Given the description of an element on the screen output the (x, y) to click on. 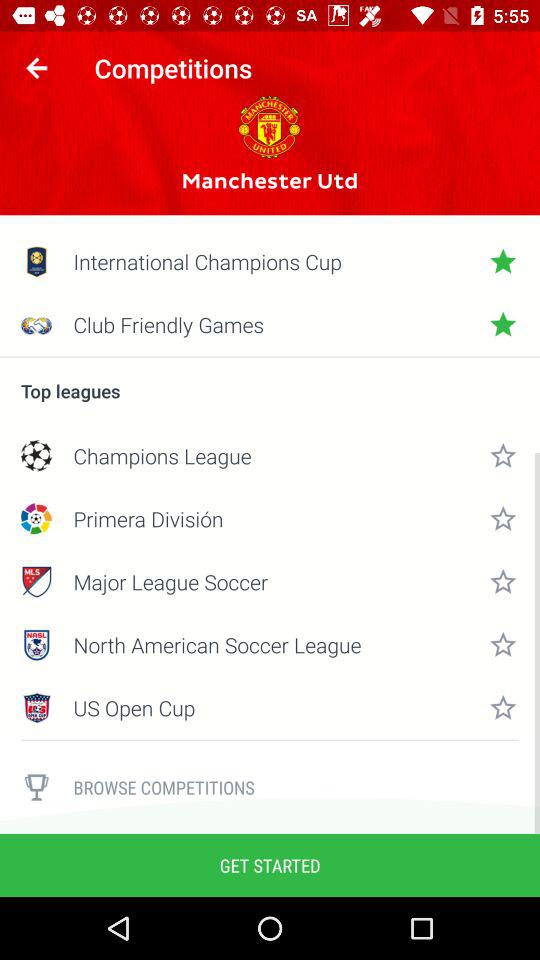
press icon above the get started item (36, 787)
